Given the description of an element on the screen output the (x, y) to click on. 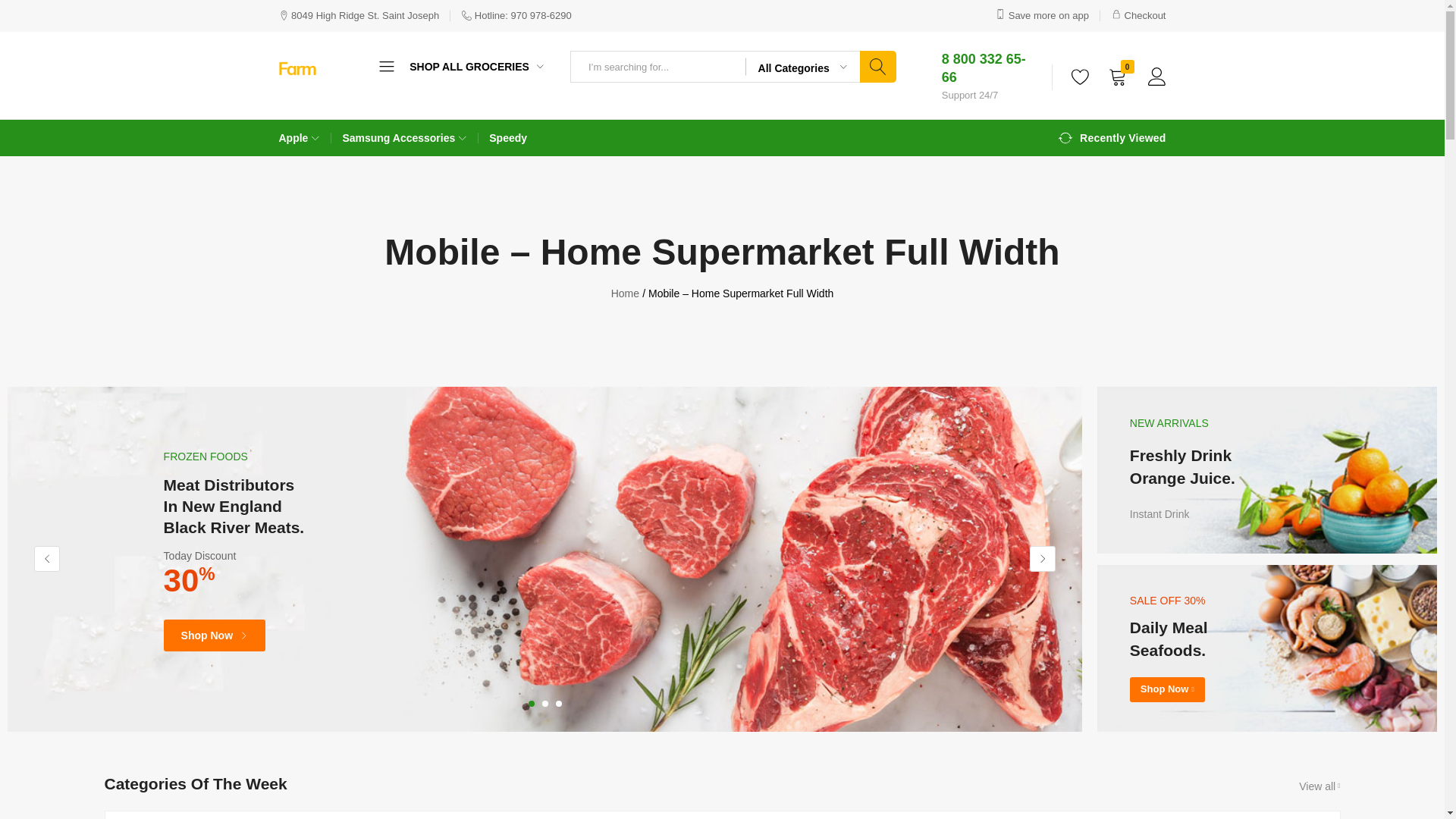
Checkout (1139, 15)
